Given the description of an element on the screen output the (x, y) to click on. 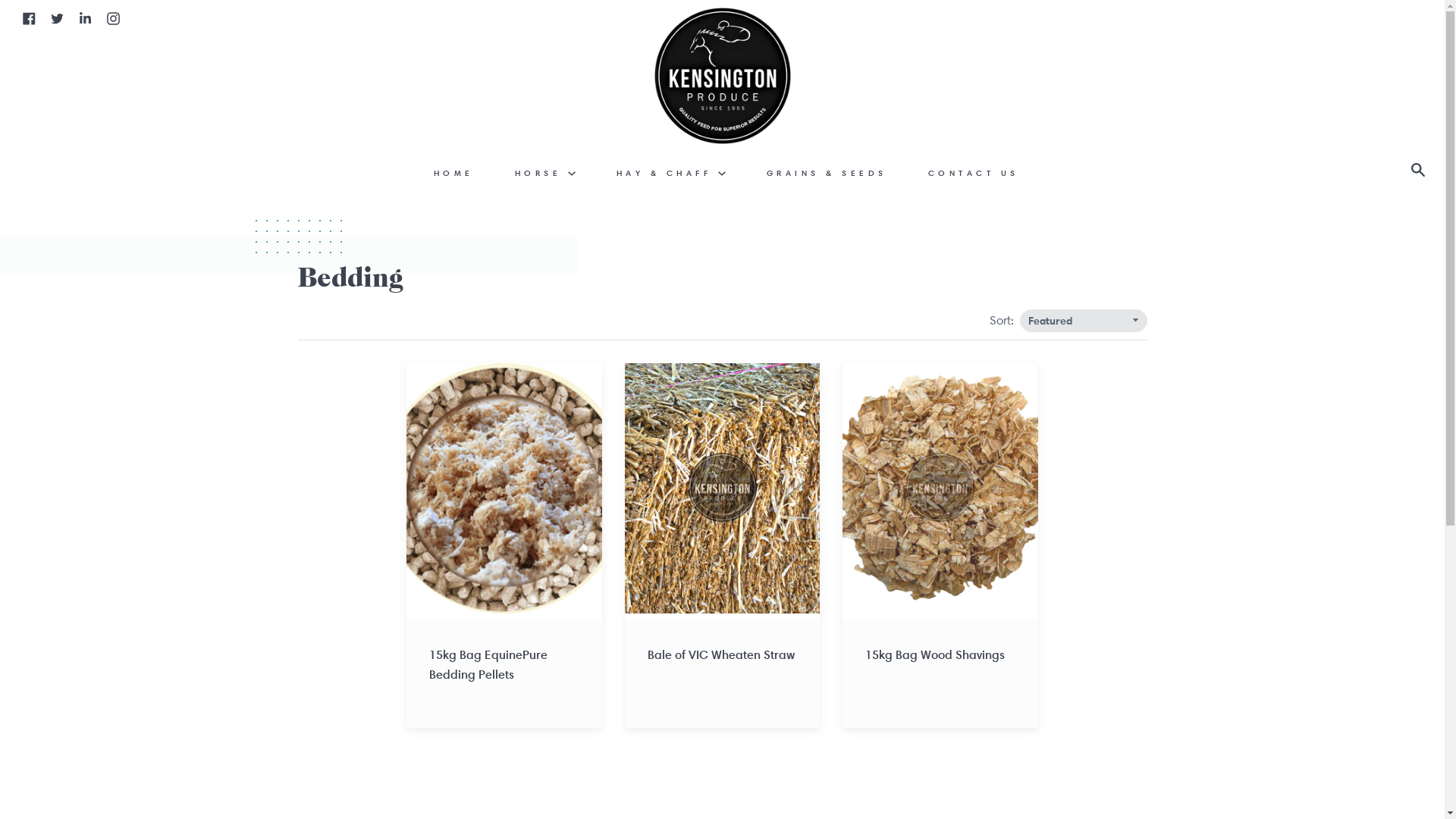
Instagram Element type: text (112, 16)
HORSE Element type: text (545, 172)
Bale of VIC Wheaten Straw Element type: text (722, 545)
15kg Bag EquinePure Bedding Pellets Element type: text (504, 545)
Twitter Element type: text (56, 16)
15kg Bag Wood Shavings Element type: text (940, 545)
Linkedin Element type: text (84, 16)
HOME Element type: text (452, 172)
GRAINS & SEEDS Element type: text (826, 172)
Facebook Element type: text (28, 16)
CONTACT US Element type: text (972, 172)
Search Element type: text (1421, 170)
HAY & CHAFF Element type: text (670, 172)
